Given the description of an element on the screen output the (x, y) to click on. 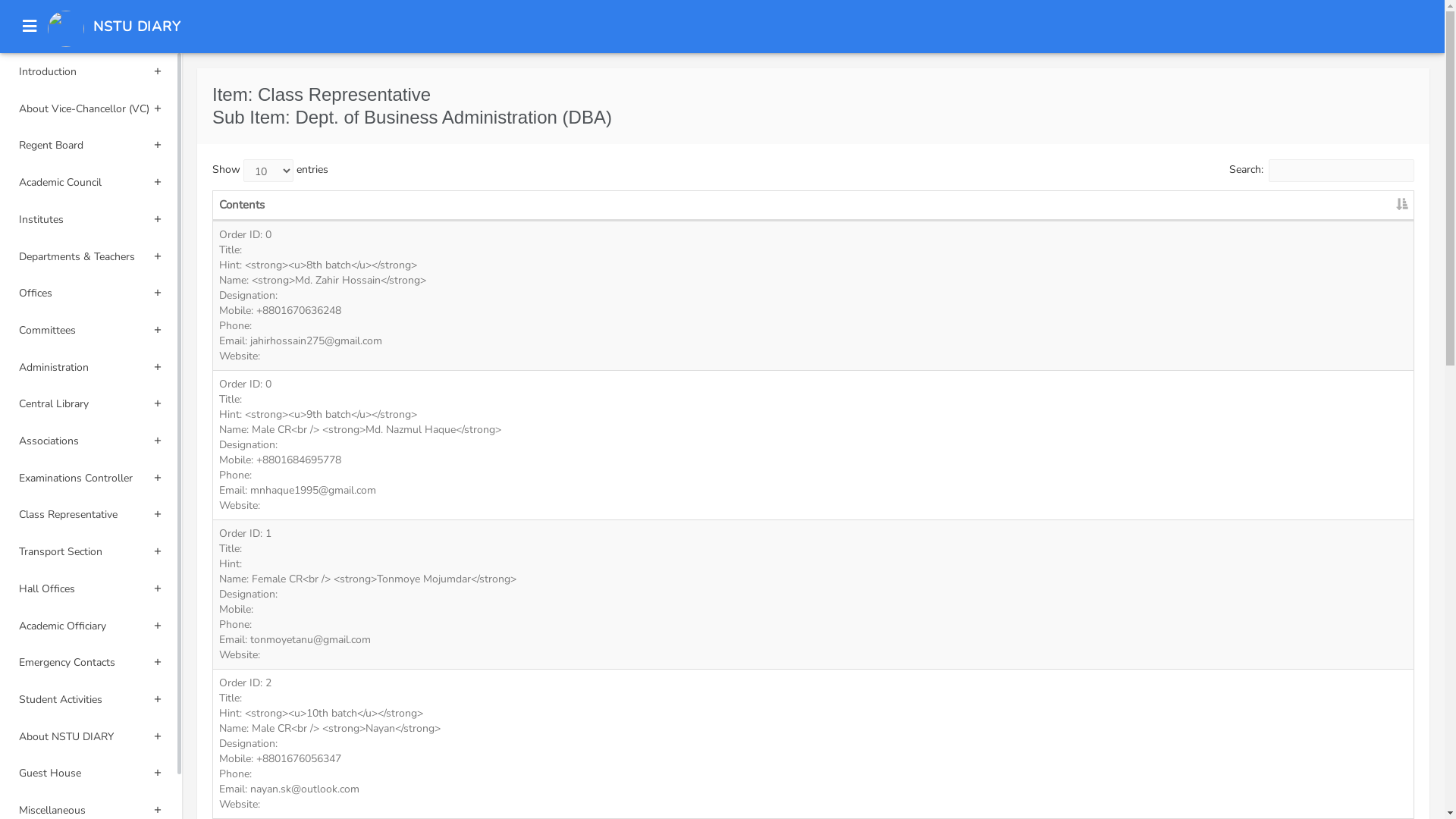
Institutes Element type: text (91, 219)
About Vice-Chancellor (VC) Element type: text (91, 108)
Introduction Element type: text (91, 71)
Departments & Teachers Element type: text (91, 256)
Committees Element type: text (91, 329)
Transport Section Element type: text (91, 551)
About NSTU DIARY Element type: text (91, 736)
Academic Officiary Element type: text (91, 625)
NSTU DIARY Element type: text (137, 26)
Central Library Element type: text (91, 403)
Examinations Controller Element type: text (91, 477)
Emergency Contacts Element type: text (91, 661)
Associations Element type: text (91, 440)
Guest House Element type: text (91, 772)
Regent Board Element type: text (91, 144)
Class Representative Element type: text (91, 514)
Student Activities Element type: text (91, 699)
Offices Element type: text (91, 292)
Administration Element type: text (91, 366)
Academic Council Element type: text (91, 181)
Hall Offices Element type: text (91, 588)
